Given the description of an element on the screen output the (x, y) to click on. 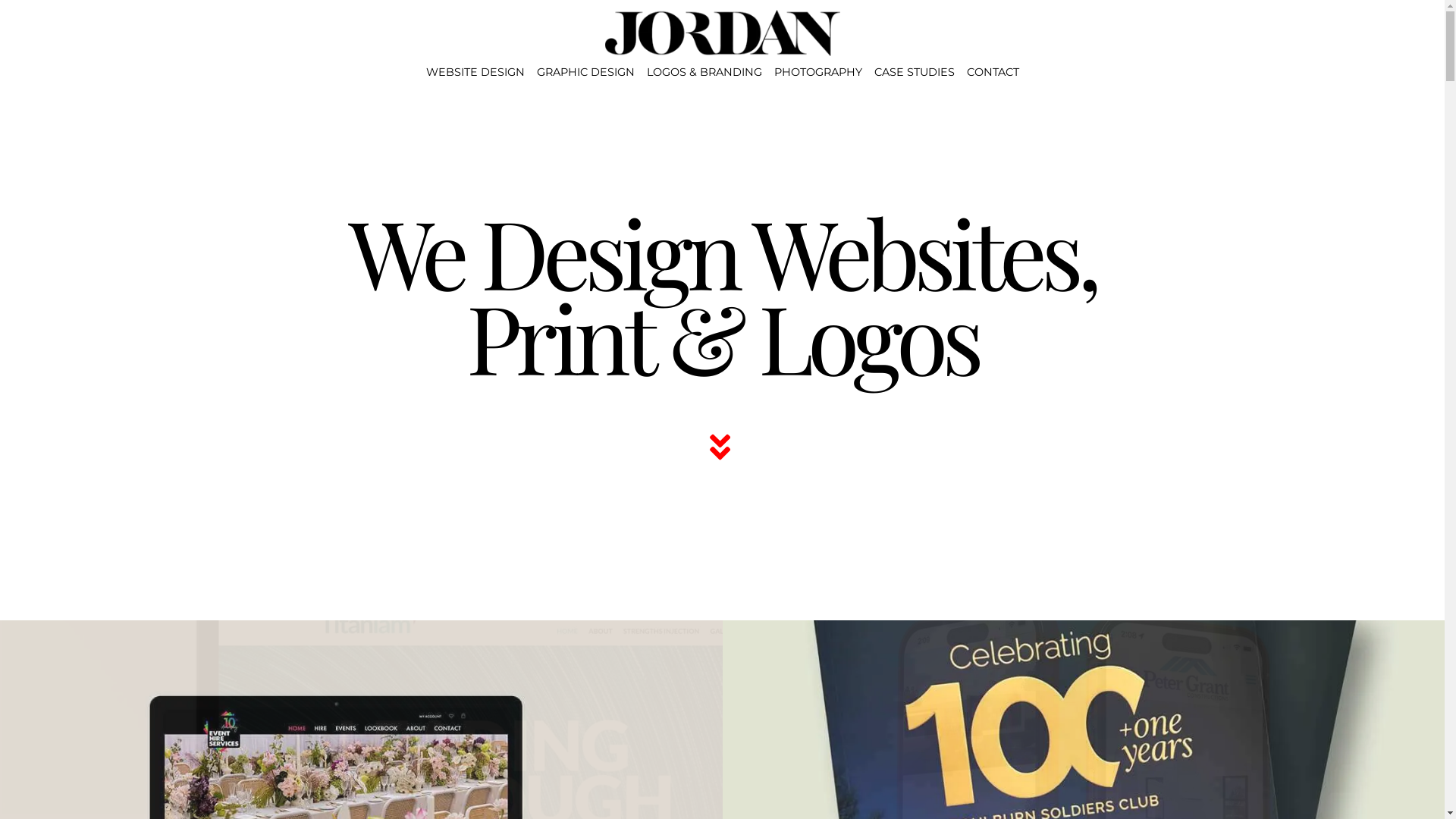
WEBSITE DESIGN Element type: text (475, 71)
GRAPHIC DESIGN Element type: text (585, 71)
CONTACT Element type: text (991, 71)
LOGOS & BRANDING Element type: text (703, 71)
PHOTOGRAPHY Element type: text (817, 71)
CASE STUDIES Element type: text (913, 71)
